Given the description of an element on the screen output the (x, y) to click on. 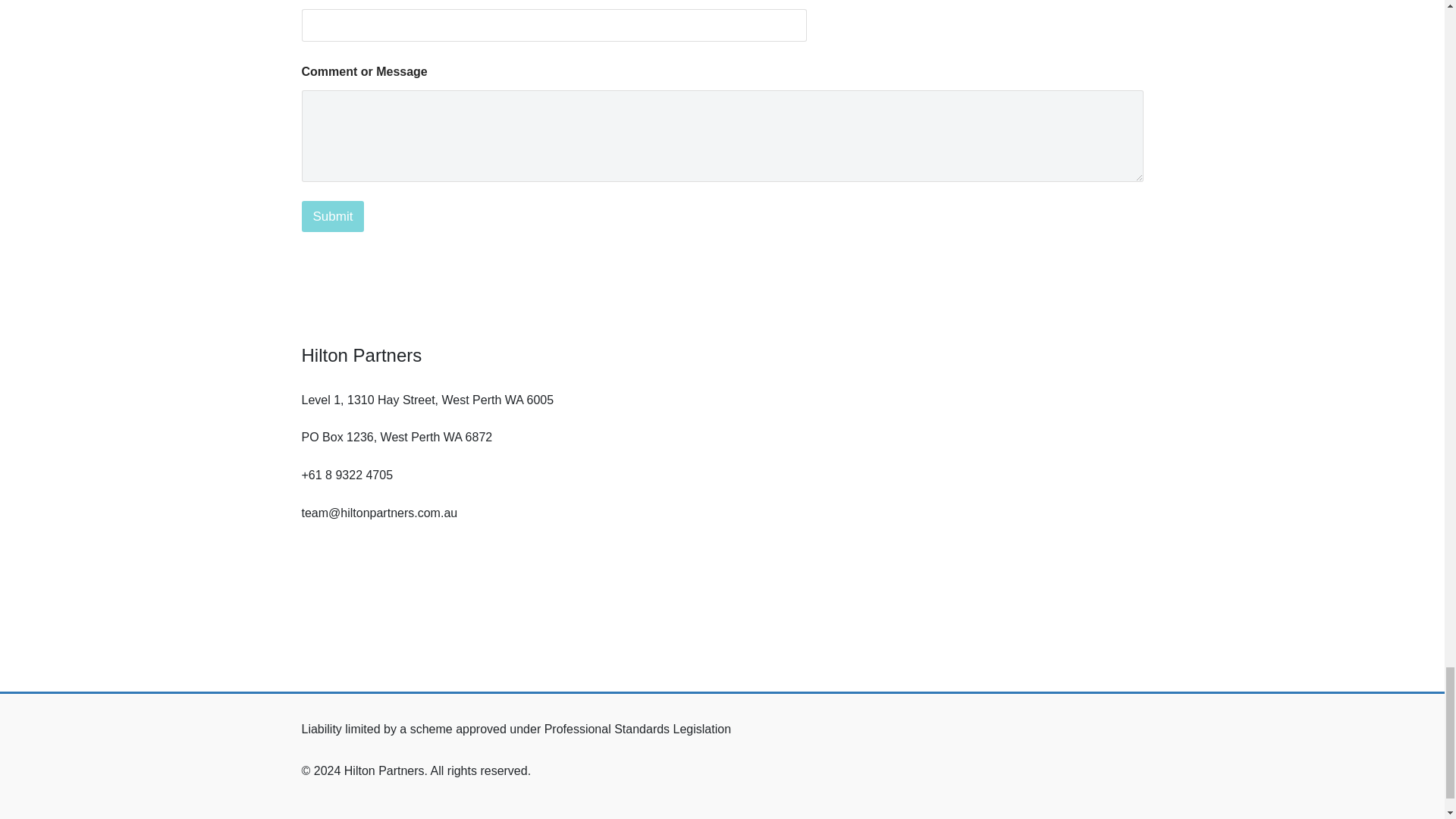
Submit (333, 215)
